Given the description of an element on the screen output the (x, y) to click on. 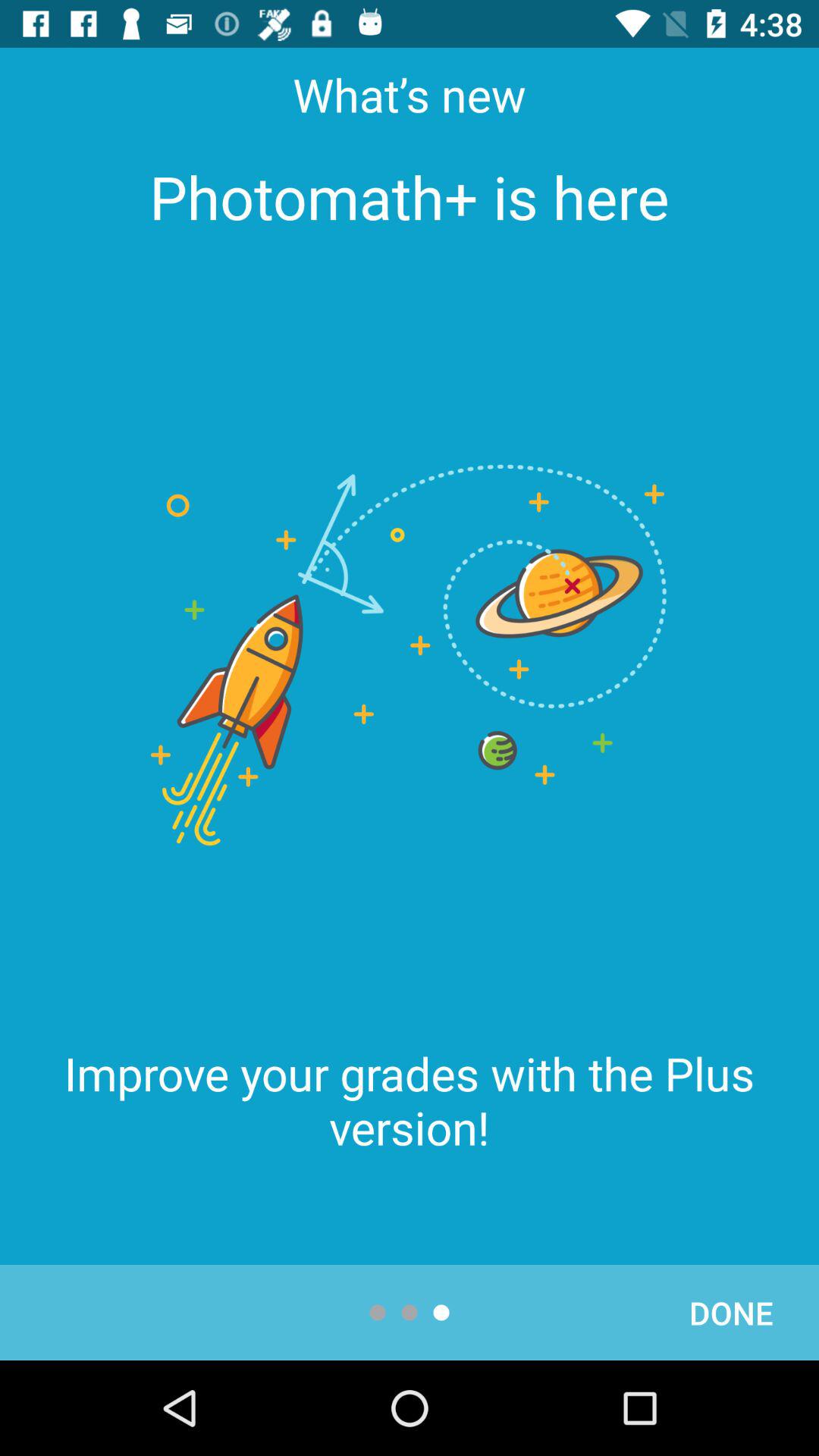
scroll to the done item (731, 1312)
